Given the description of an element on the screen output the (x, y) to click on. 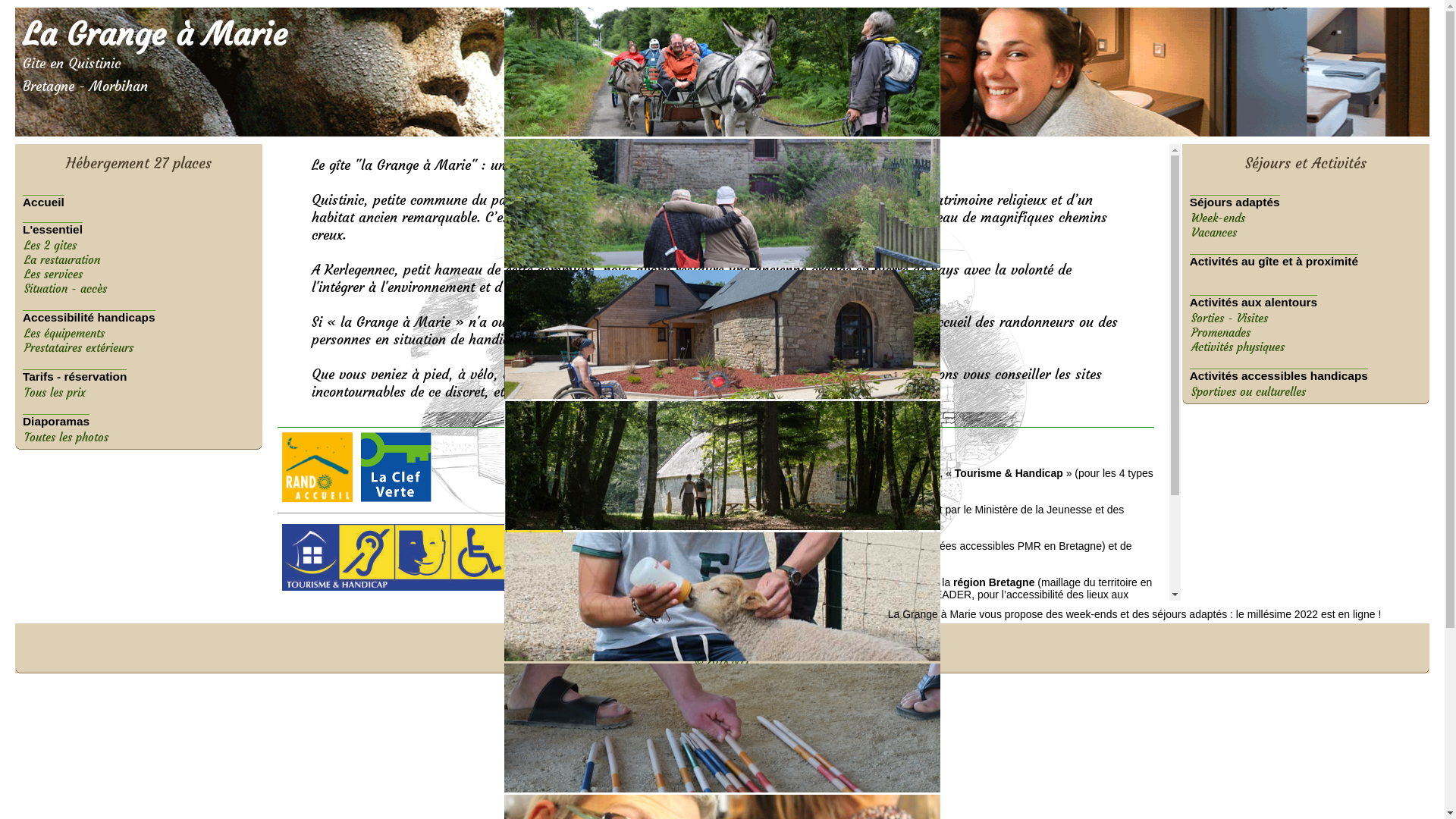
Diaporamas
Toutes les photos Element type: text (138, 423)
Accueil Element type: text (138, 195)
Association CAP BLAVET Element type: text (656, 633)
E-mail Element type: text (850, 647)
